Given the description of an element on the screen output the (x, y) to click on. 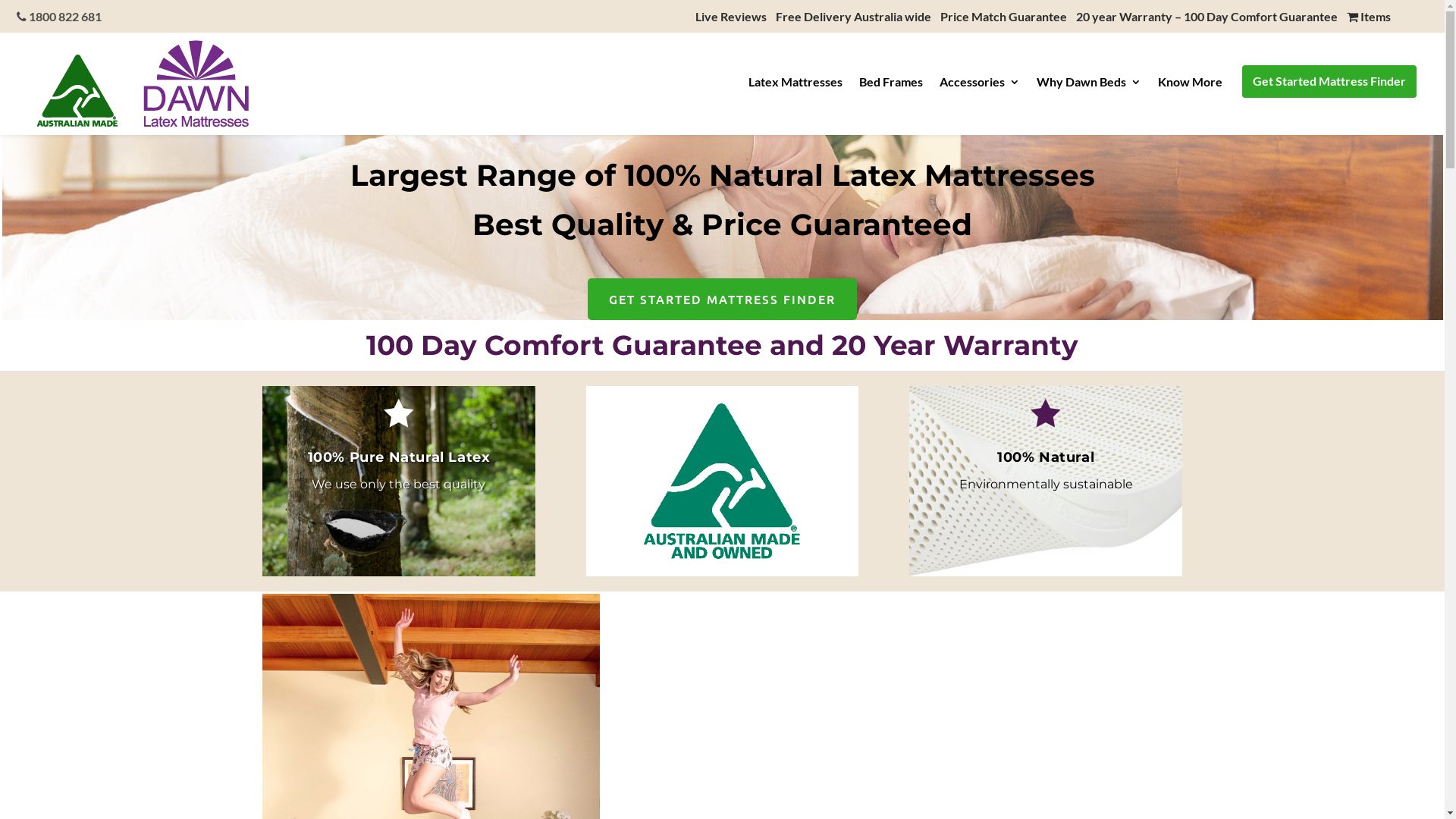
Accessories Element type: text (979, 86)
Price Match Guarantee Element type: text (1003, 16)
Live Reviews Element type: text (730, 16)
dawnlatexmattresseslogo_wss_3 Element type: hover (142, 83)
Bed Frames Element type: text (890, 86)
Latex Mattresses Element type: text (795, 86)
1800 822 681 Element type: text (58, 16)
Items Element type: text (1368, 16)
GET STARTED MATTRESS FINDER Element type: text (721, 299)
Free Delivery Australia wide Element type: text (853, 16)
Know More Element type: text (1189, 86)
Why Dawn Beds Element type: text (1088, 86)
Get Started Mattress Finder Element type: text (1328, 83)
